Given the description of an element on the screen output the (x, y) to click on. 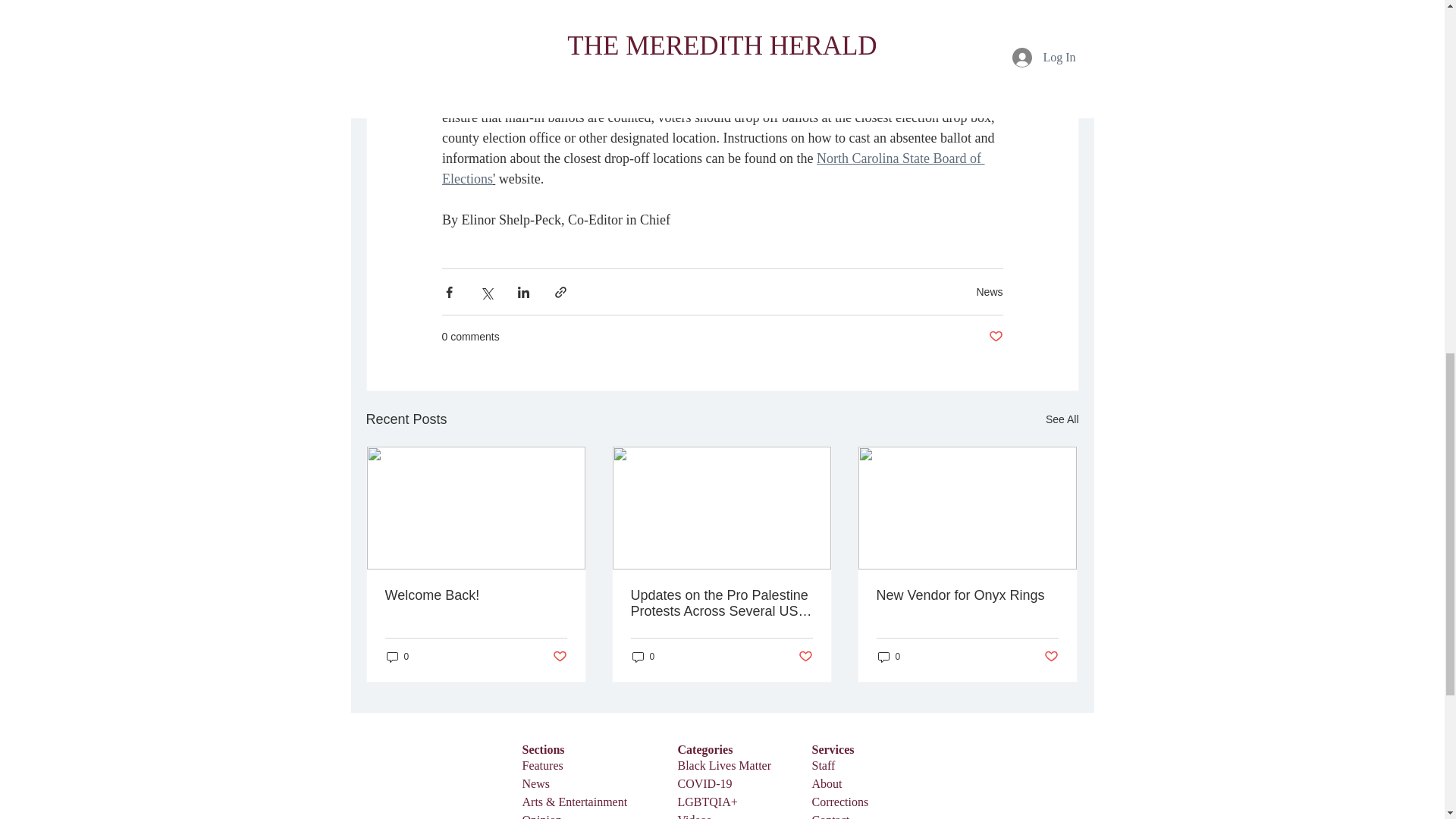
North Carolina State Board of Elections (712, 168)
Welcome Back! (476, 595)
0 (643, 656)
Post not marked as liked (995, 336)
0 (397, 656)
News (989, 291)
statement  (582, 14)
New Vendor for Onyx Rings (967, 595)
See All (1061, 419)
